Given the description of an element on the screen output the (x, y) to click on. 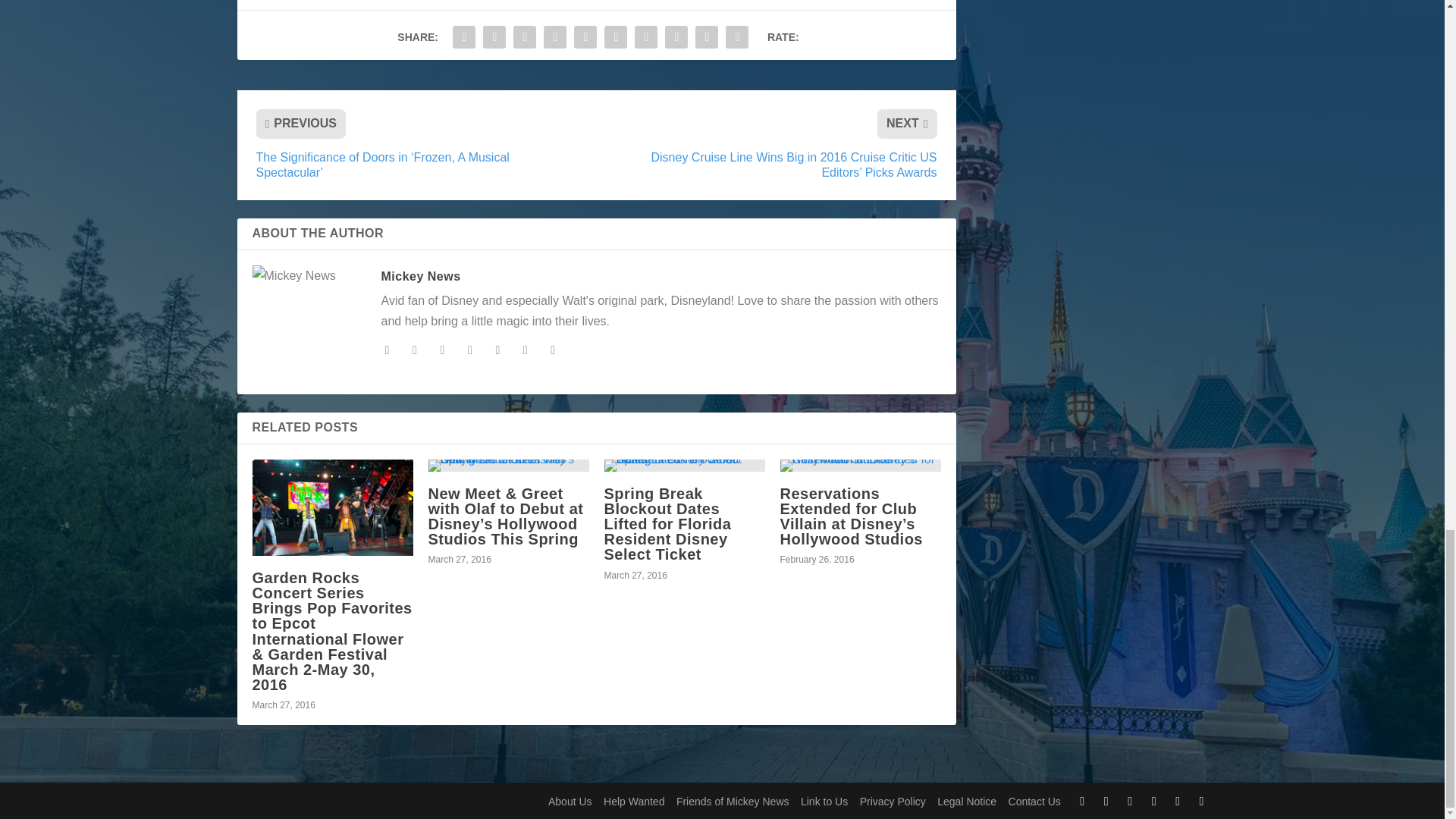
View all posts by Mickey News (420, 276)
